Given the description of an element on the screen output the (x, y) to click on. 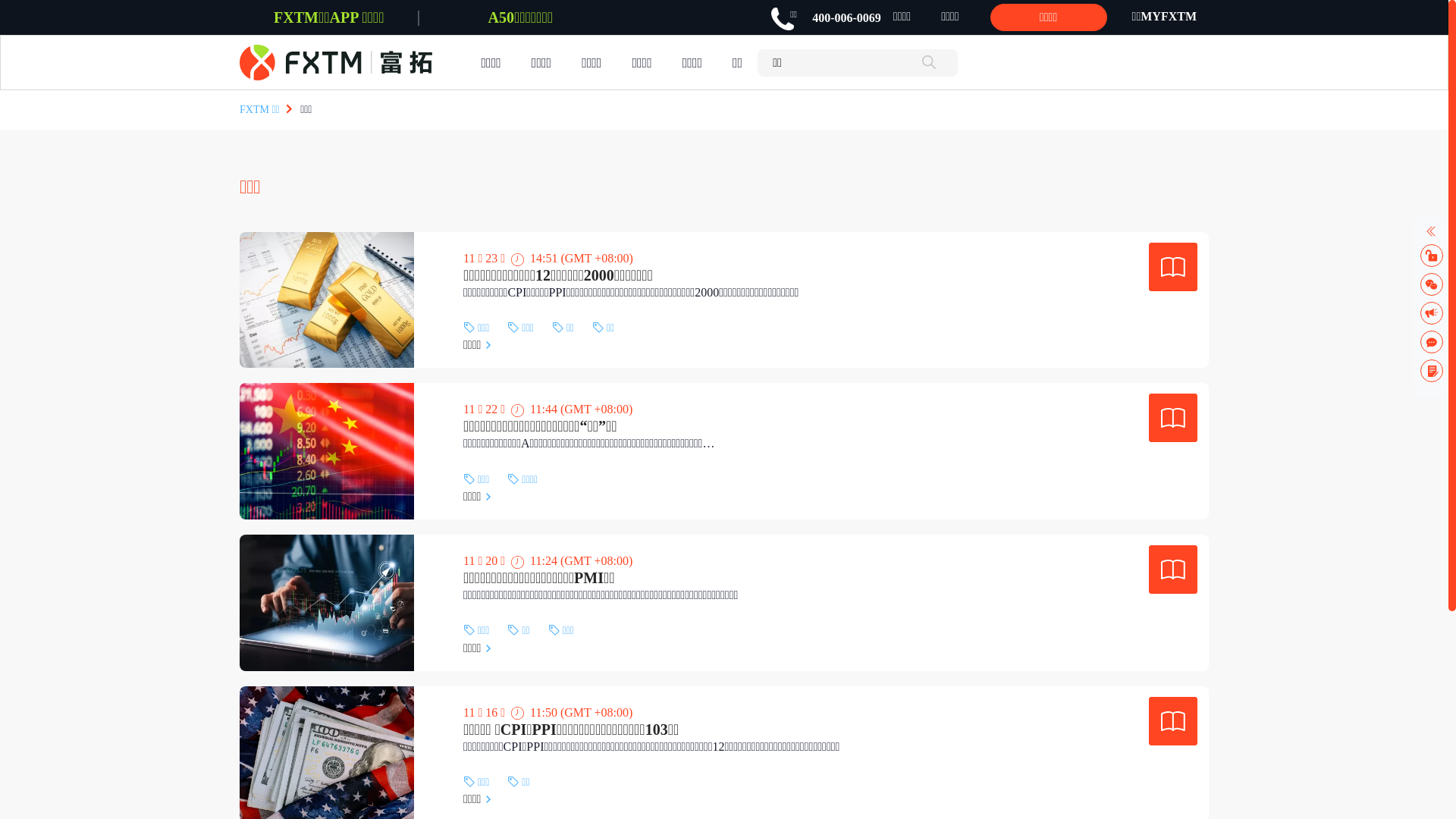
Skip to main content Element type: text (8, 90)
